Given the description of an element on the screen output the (x, y) to click on. 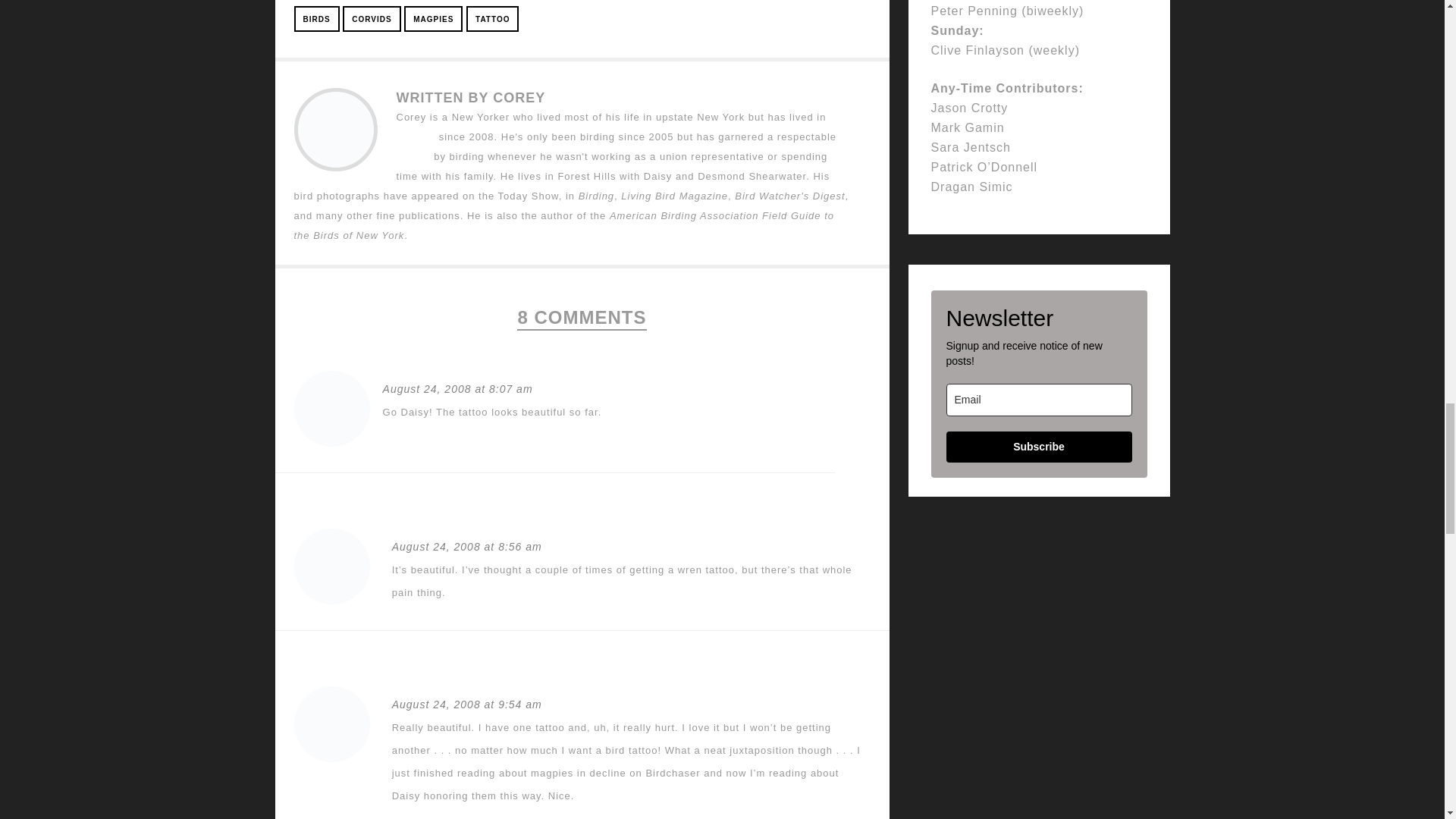
MAGPIES (433, 18)
BIRDS (316, 18)
CORVIDS (371, 18)
